Given the description of an element on the screen output the (x, y) to click on. 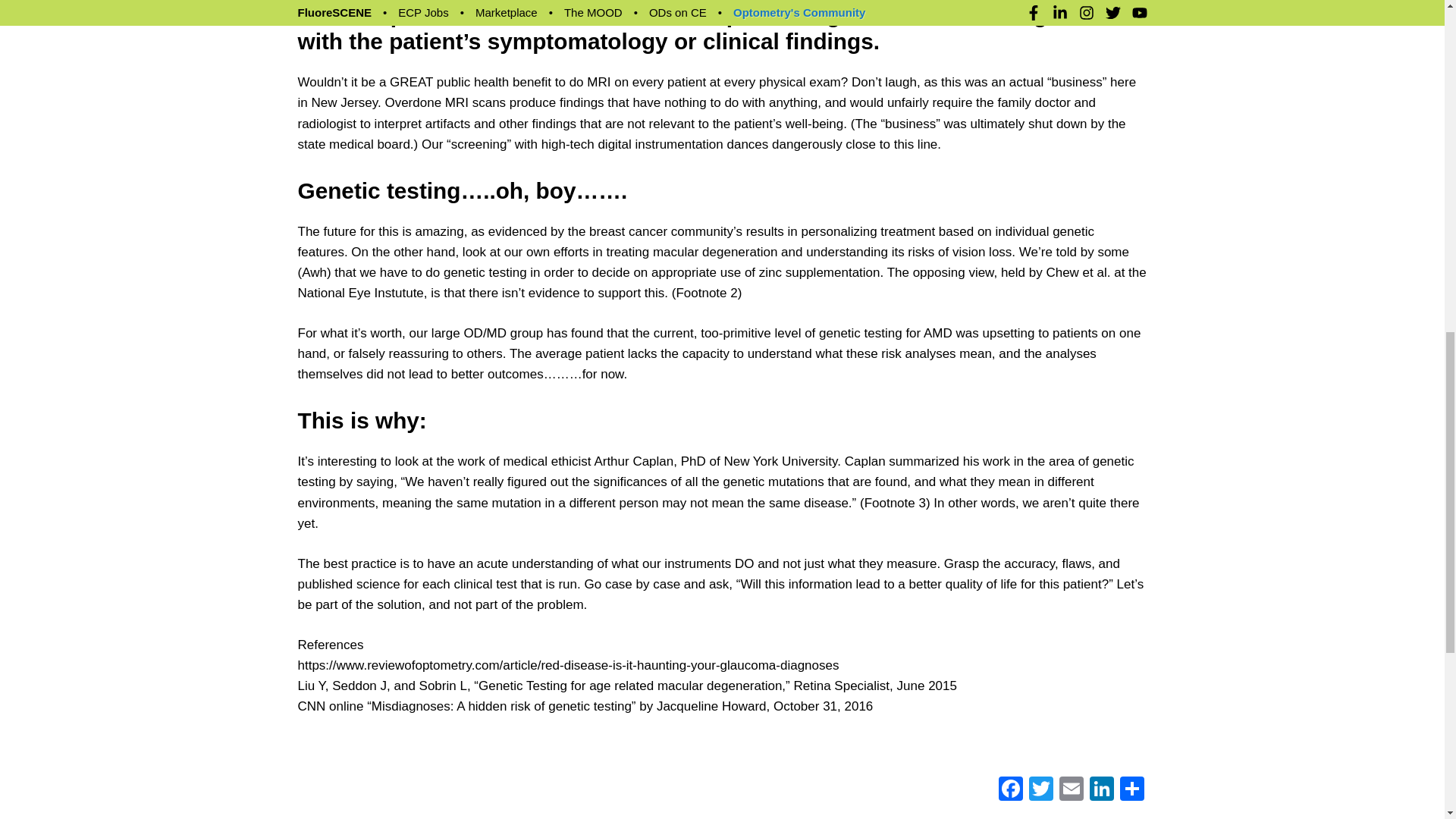
LinkedIn (1101, 790)
LinkedIn (1101, 790)
Twitter (1040, 790)
Twitter (1040, 790)
Email (1070, 790)
Facebook (1009, 790)
Facebook (1009, 790)
Email (1070, 790)
